Given the description of an element on the screen output the (x, y) to click on. 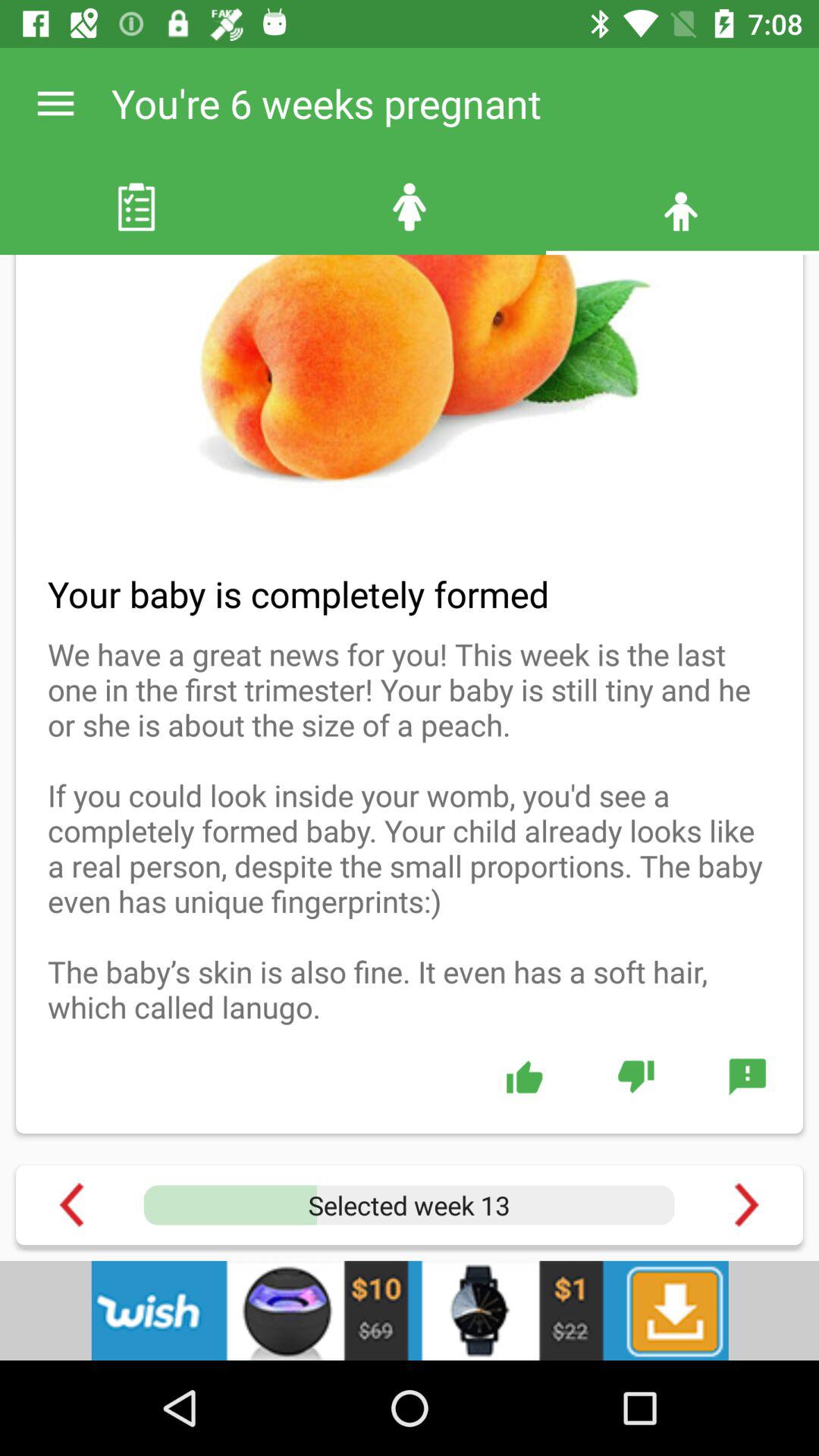
dislike page (635, 1076)
